Given the description of an element on the screen output the (x, y) to click on. 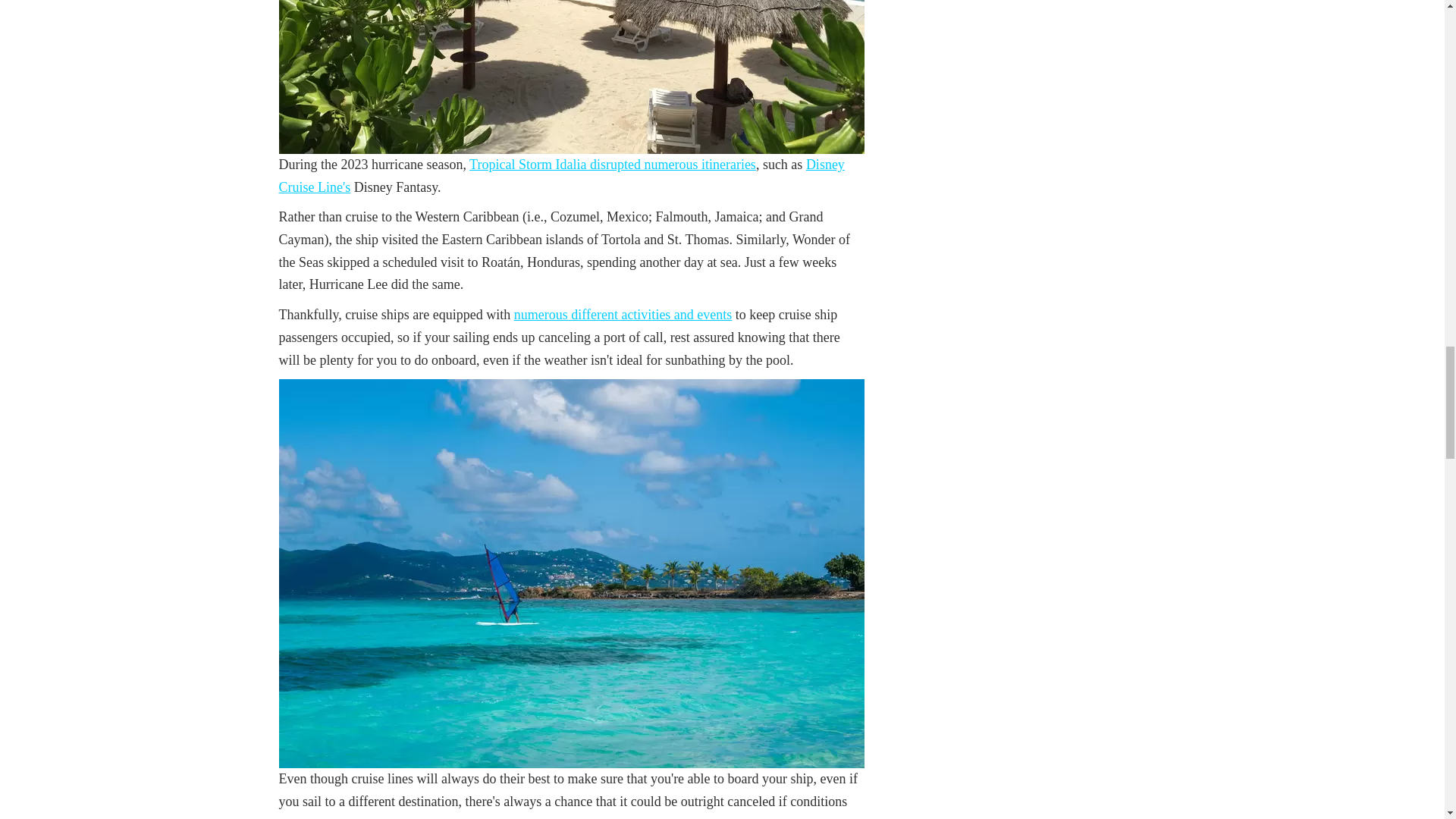
Tropical Storm Idalia disrupted numerous itineraries (611, 164)
Disney Cruise Line's (561, 175)
numerous different activities and events (622, 314)
